Given the description of an element on the screen output the (x, y) to click on. 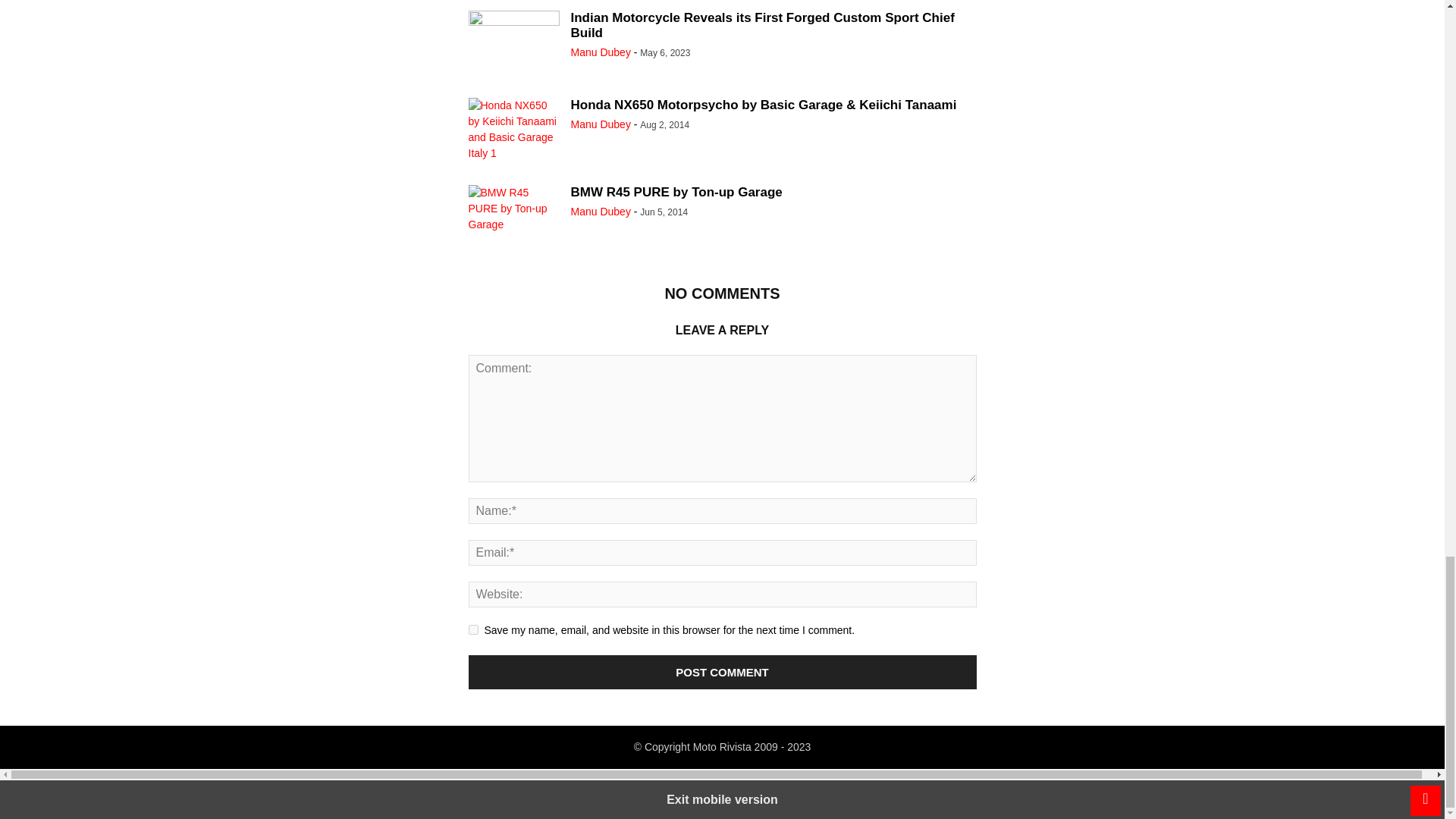
Post Comment (722, 672)
Manu Dubey (600, 51)
BMW R45 PURE by Ton-up Garage (513, 219)
Manu Dubey (600, 211)
Post Comment (722, 672)
BMW R45 PURE by Ton-up Garage (675, 192)
Manu Dubey (600, 123)
yes (473, 629)
